Given the description of an element on the screen output the (x, y) to click on. 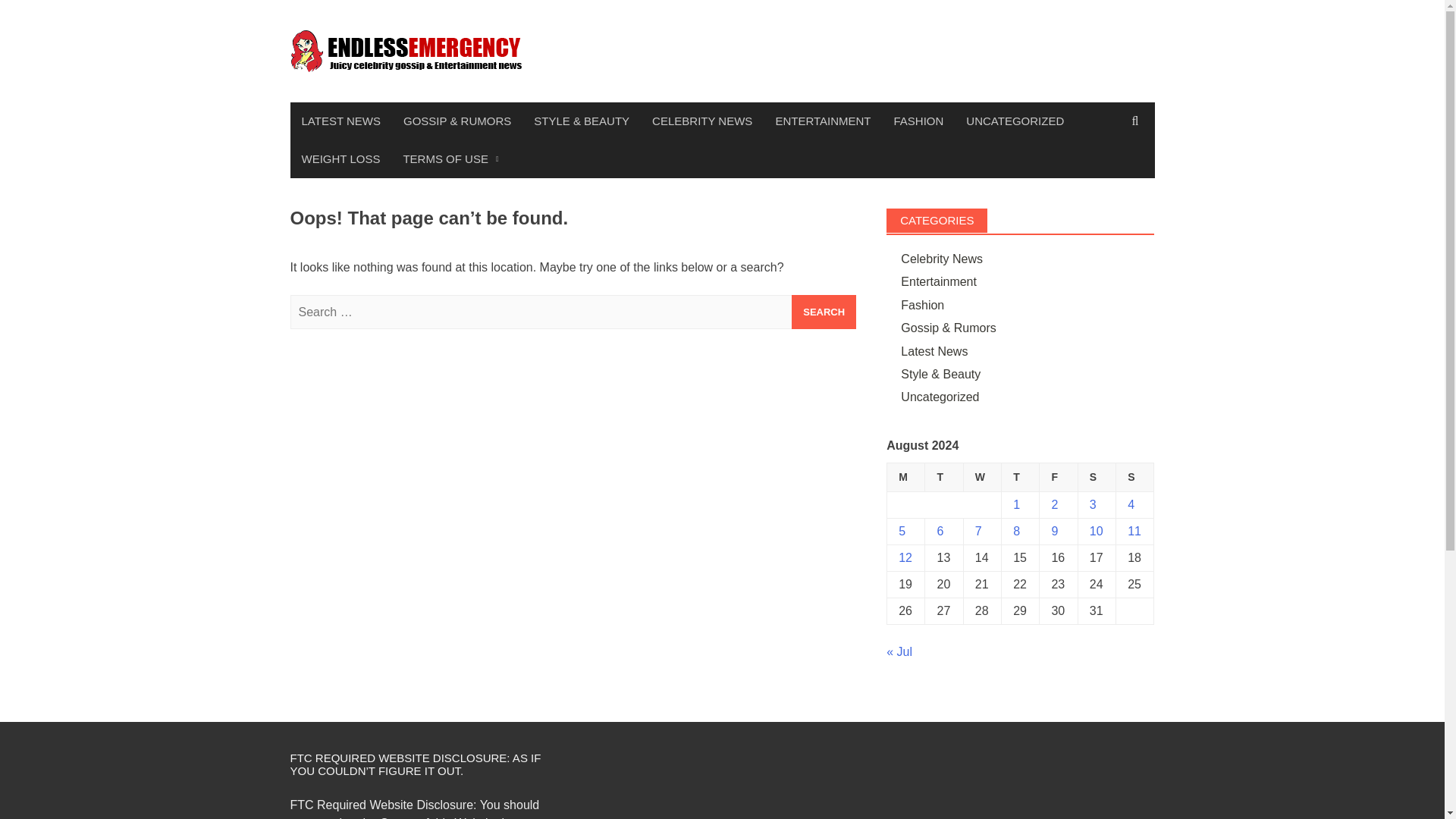
Monday (905, 477)
Search (824, 311)
Tuesday (943, 477)
FASHION (918, 121)
UNCATEGORIZED (1015, 121)
WEIGHT LOSS (340, 159)
Thursday (1020, 477)
Entertainment (938, 281)
Sunday (1135, 477)
Search (824, 311)
